Given the description of an element on the screen output the (x, y) to click on. 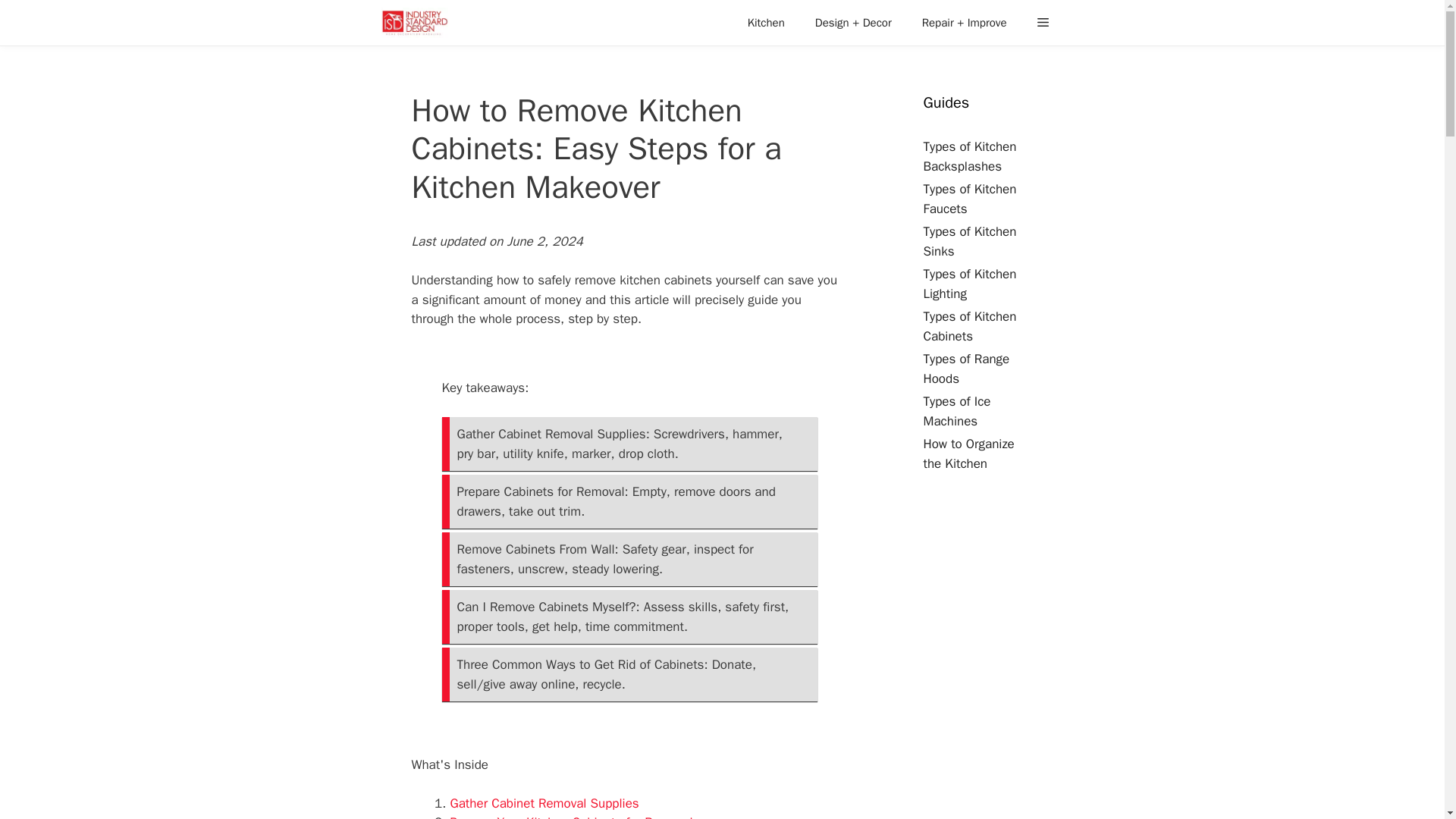
Industry Standard Design (417, 22)
Gather Cabinet Removal Supplies (544, 803)
Industry Standard Design (414, 22)
Types of Kitchen Sinks (969, 241)
Kitchen (765, 22)
How to Organize the Kitchen (968, 453)
Types of Ice Machines (957, 411)
Types of Range Hoods (966, 368)
Types of Kitchen Cabinets (969, 325)
Types of Kitchen Lighting (969, 284)
